Given the description of an element on the screen output the (x, y) to click on. 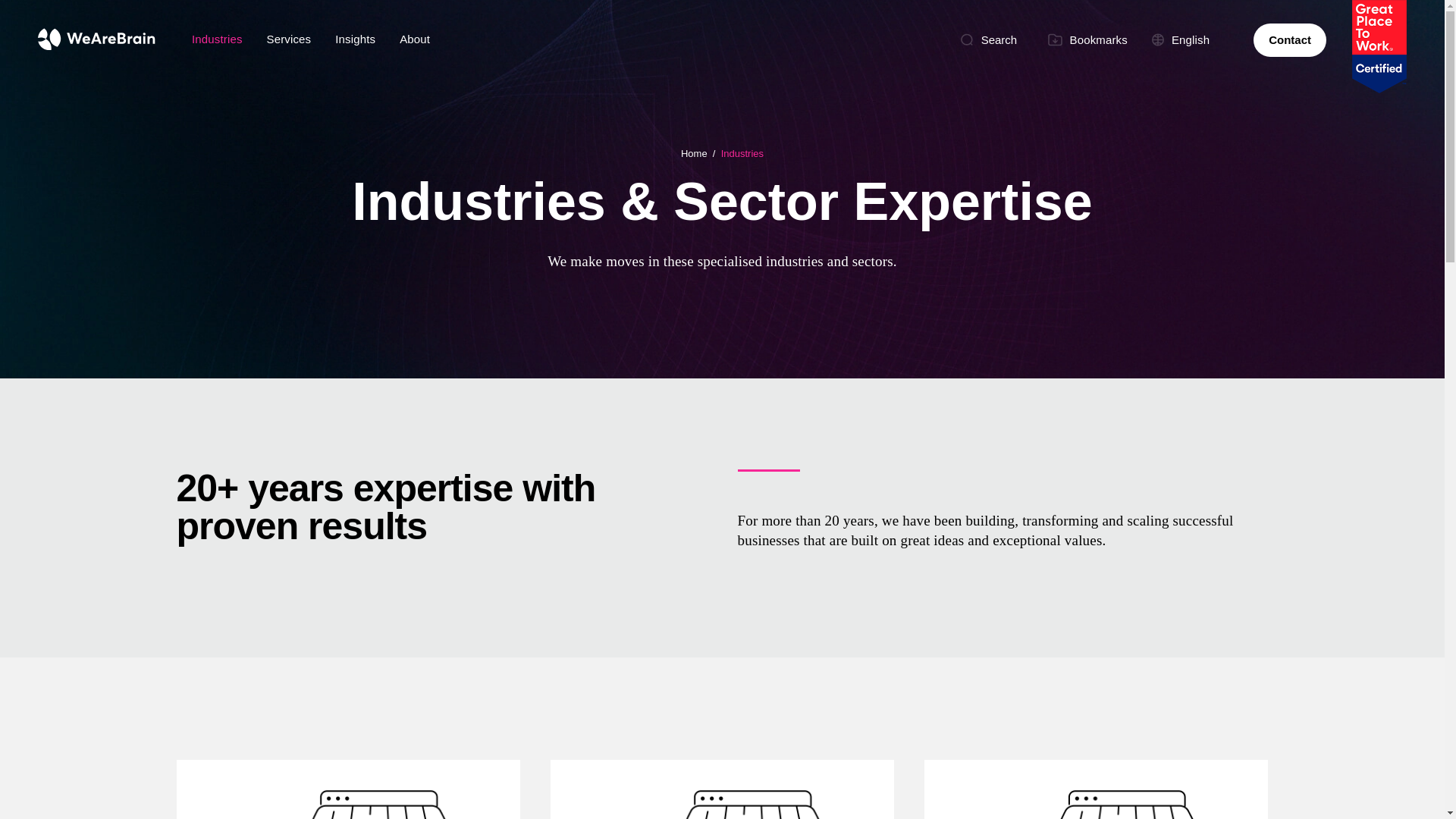
About (414, 38)
Services (288, 38)
Insights (355, 38)
Industries (216, 38)
